Given the description of an element on the screen output the (x, y) to click on. 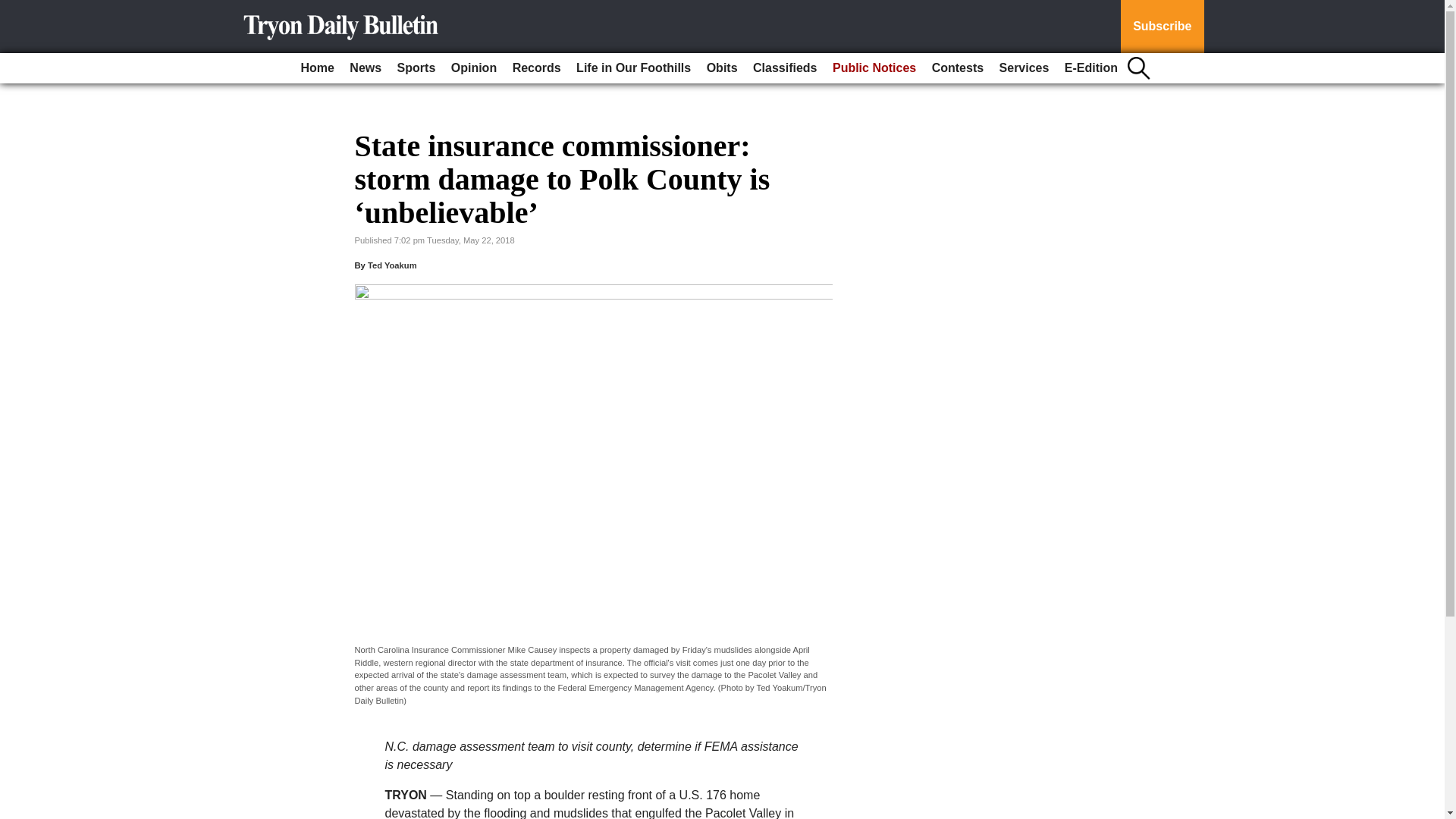
Public Notices (874, 68)
Obits (722, 68)
Go (13, 9)
Records (536, 68)
Services (1023, 68)
Life in Our Foothills (633, 68)
Subscribe (1162, 26)
Classifieds (784, 68)
Opinion (473, 68)
Contests (958, 68)
